Given the description of an element on the screen output the (x, y) to click on. 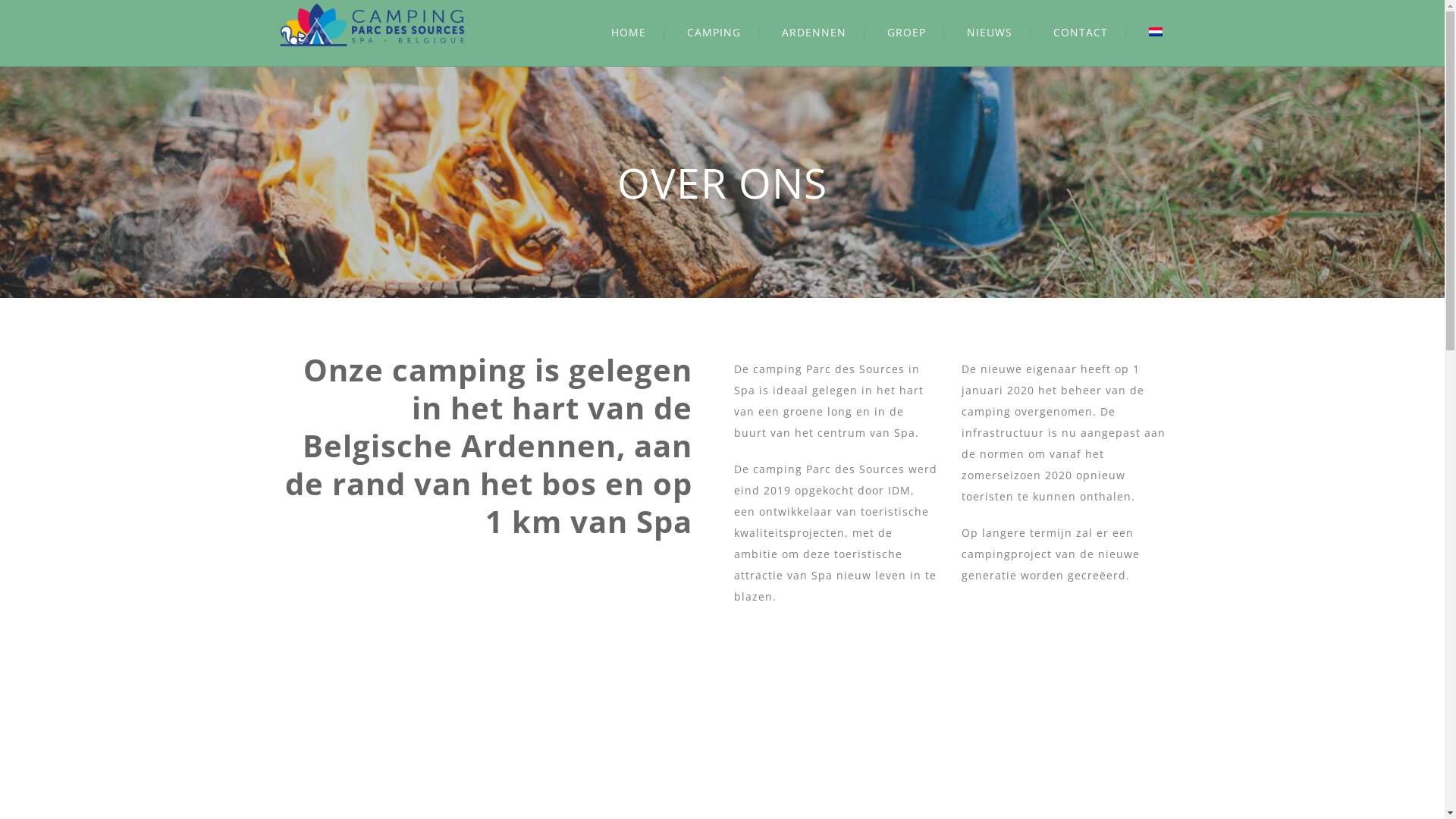
NIEUWS Element type: text (988, 32)
GROEP Element type: text (906, 32)
HOME Element type: text (628, 32)
CONTACT Element type: text (1079, 32)
ARDENNEN Element type: text (813, 32)
CAMPING Element type: text (713, 32)
